Given the description of an element on the screen output the (x, y) to click on. 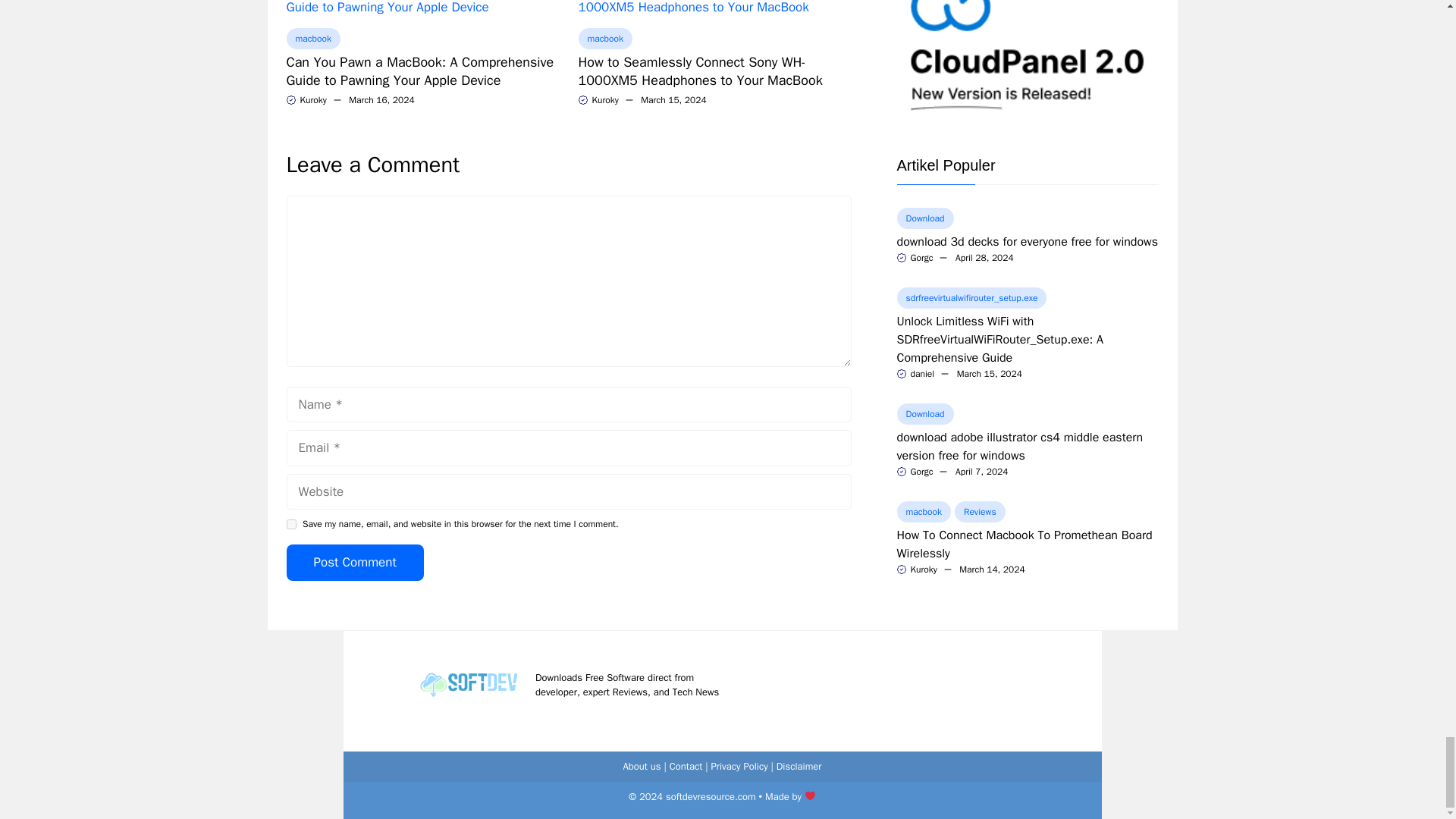
Kuroky (604, 100)
yes (291, 524)
Kuroky (312, 100)
macbook (604, 38)
macbook (313, 38)
Post Comment (354, 562)
